Given the description of an element on the screen output the (x, y) to click on. 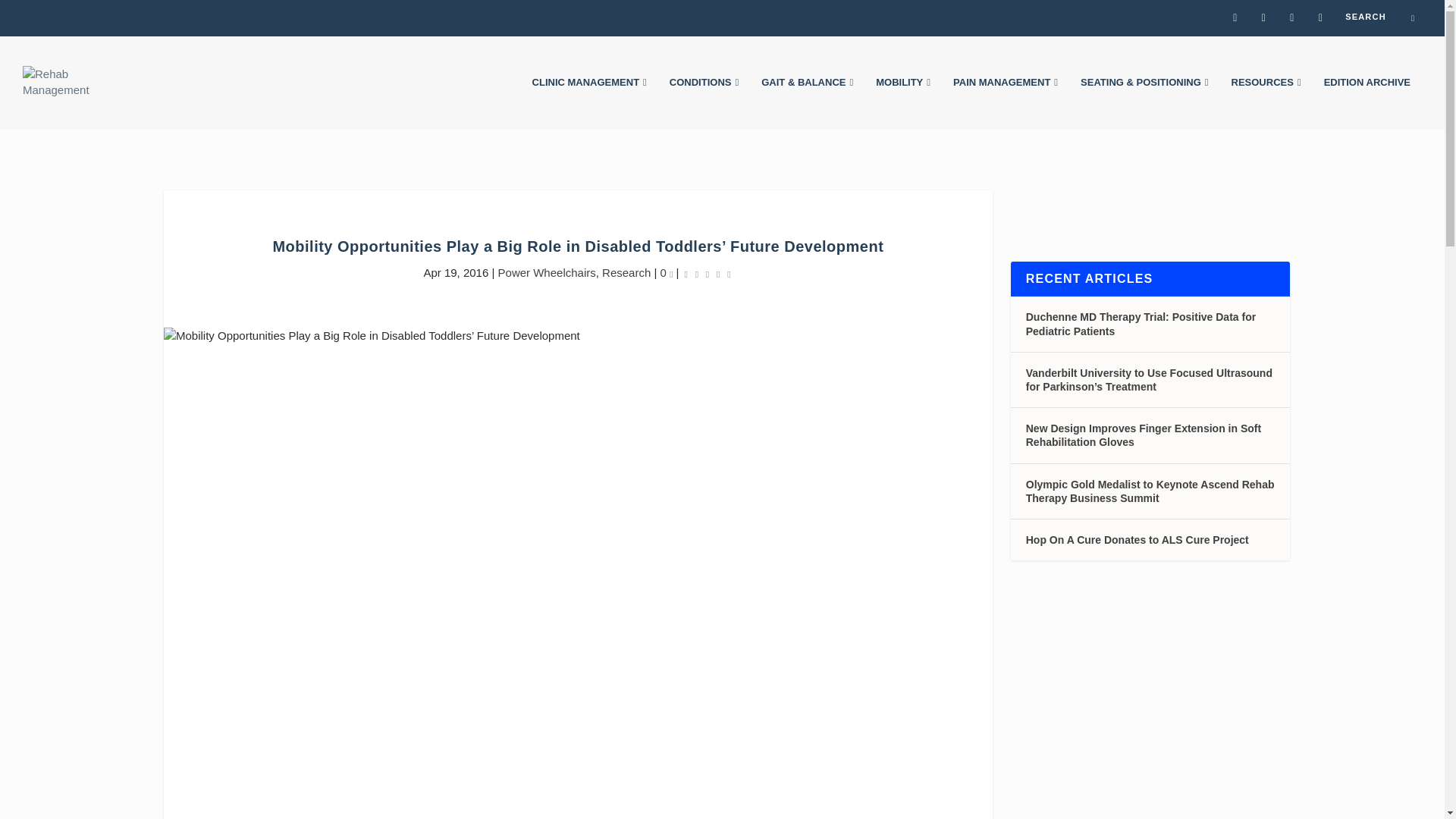
PAIN MANAGEMENT (1005, 102)
MOBILITY (903, 102)
Rating: 0.00 (707, 272)
Search for: (1380, 16)
CLINIC MANAGEMENT (589, 102)
CONDITIONS (703, 102)
comment count (670, 273)
